Given the description of an element on the screen output the (x, y) to click on. 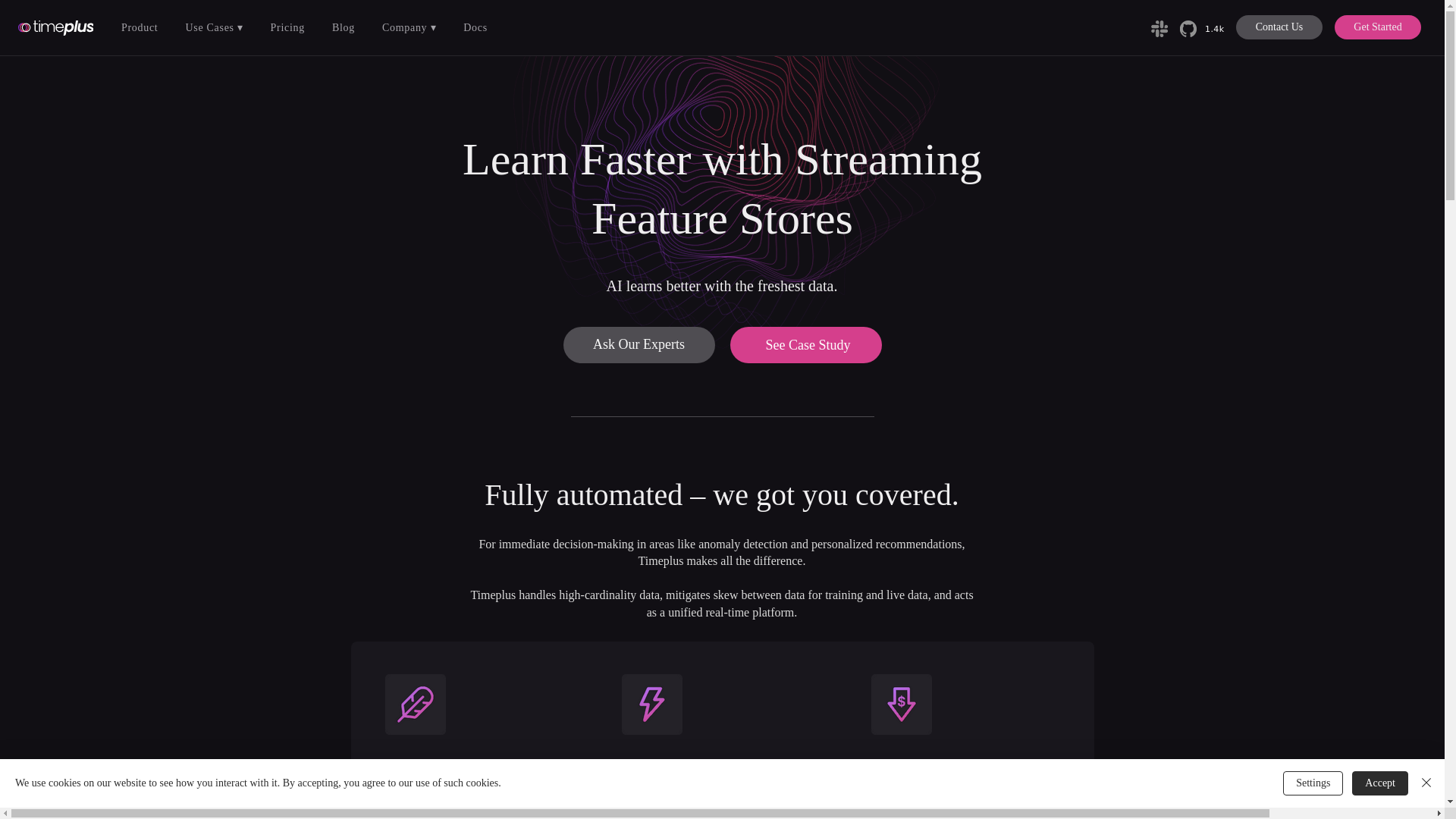
Docs (475, 27)
See Case Study (804, 344)
Blog (343, 27)
Pricing (288, 27)
Get Started (1378, 27)
Contact Us (1279, 27)
Product (139, 27)
Pricing (964, 811)
Timeplus Proton Github repo stars (1210, 30)
Ask Our Experts (638, 344)
